Given the description of an element on the screen output the (x, y) to click on. 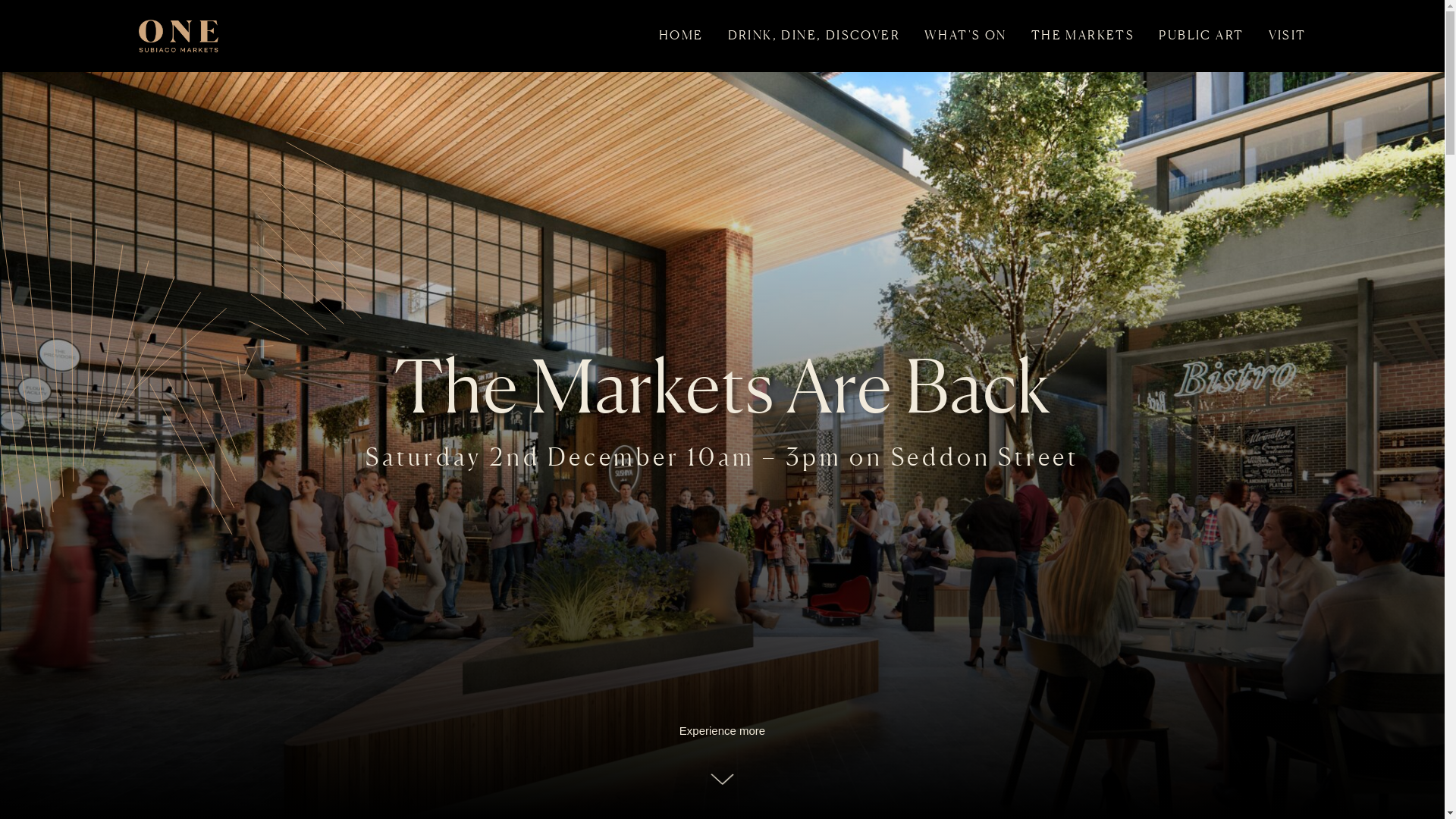
WHAT'S ON Element type: text (965, 34)
HOME Element type: text (680, 34)
THE MARKETS Element type: text (1082, 34)
Experience more Element type: text (722, 752)
DRINK, DINE, DISCOVER Element type: text (814, 34)
PUBLIC ART Element type: text (1200, 34)
VISIT Element type: text (1286, 34)
The Markets Are Back Element type: text (722, 385)
